Given the description of an element on the screen output the (x, y) to click on. 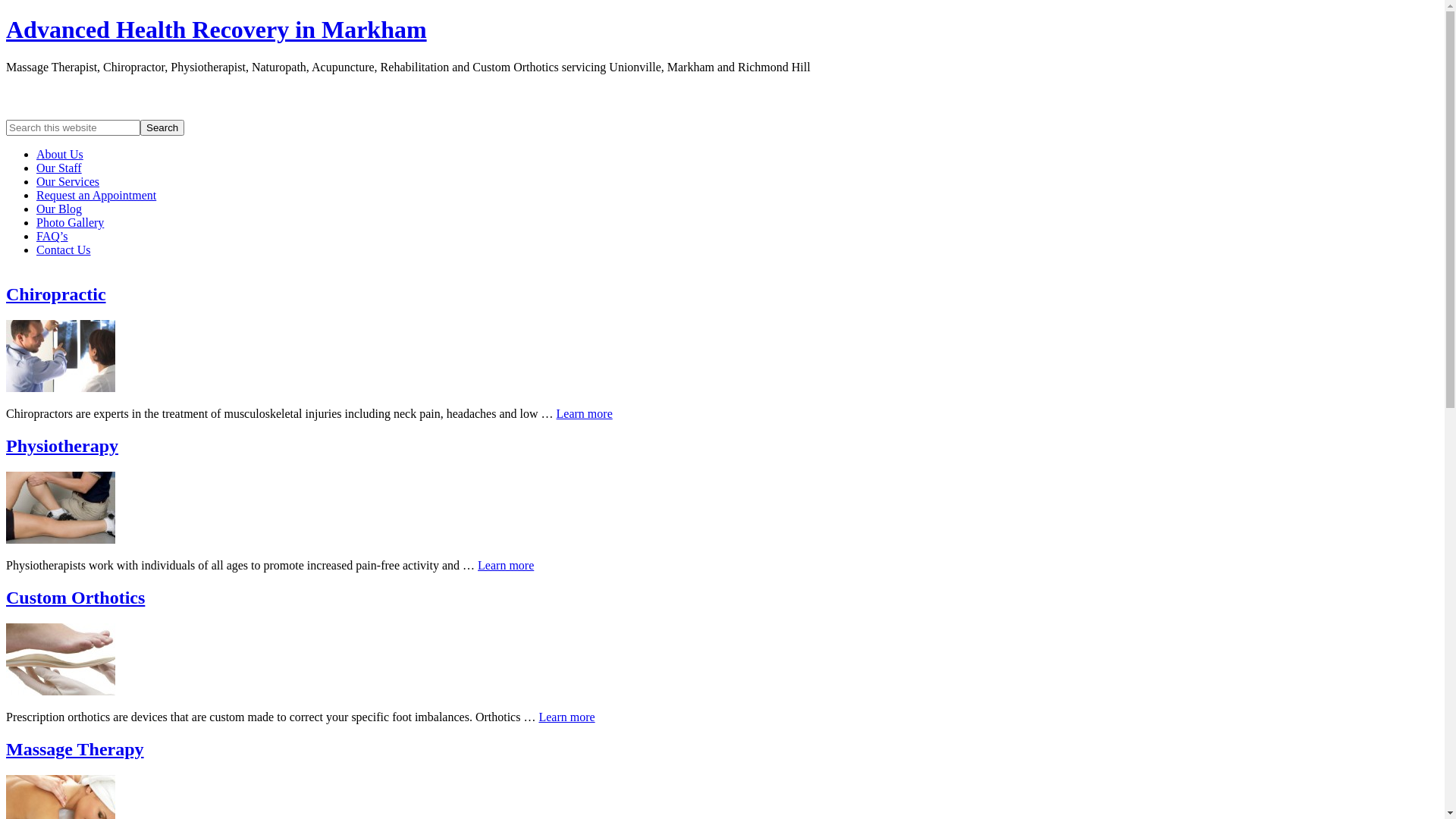
Request an Appointment Element type: text (96, 194)
Our Services Element type: text (67, 181)
Massage Therapy Element type: text (75, 749)
Photo Gallery Element type: text (69, 222)
Search Element type: text (162, 127)
Chiropractic Element type: hover (60, 387)
About Us Element type: text (59, 153)
Chiropractic Element type: text (56, 294)
Physiotherapy Element type: hover (60, 539)
Physiotherapy Element type: text (62, 445)
Custom Orthotics Element type: hover (60, 690)
Our Blog Element type: text (58, 208)
Learn more Element type: text (584, 413)
Learn more Element type: text (566, 716)
Advanced Health Recovery in Markham Element type: text (216, 29)
Custom Orthotics Element type: text (75, 597)
Our Staff Element type: text (58, 167)
Contact Us Element type: text (63, 249)
Learn more Element type: text (505, 564)
